Given the description of an element on the screen output the (x, y) to click on. 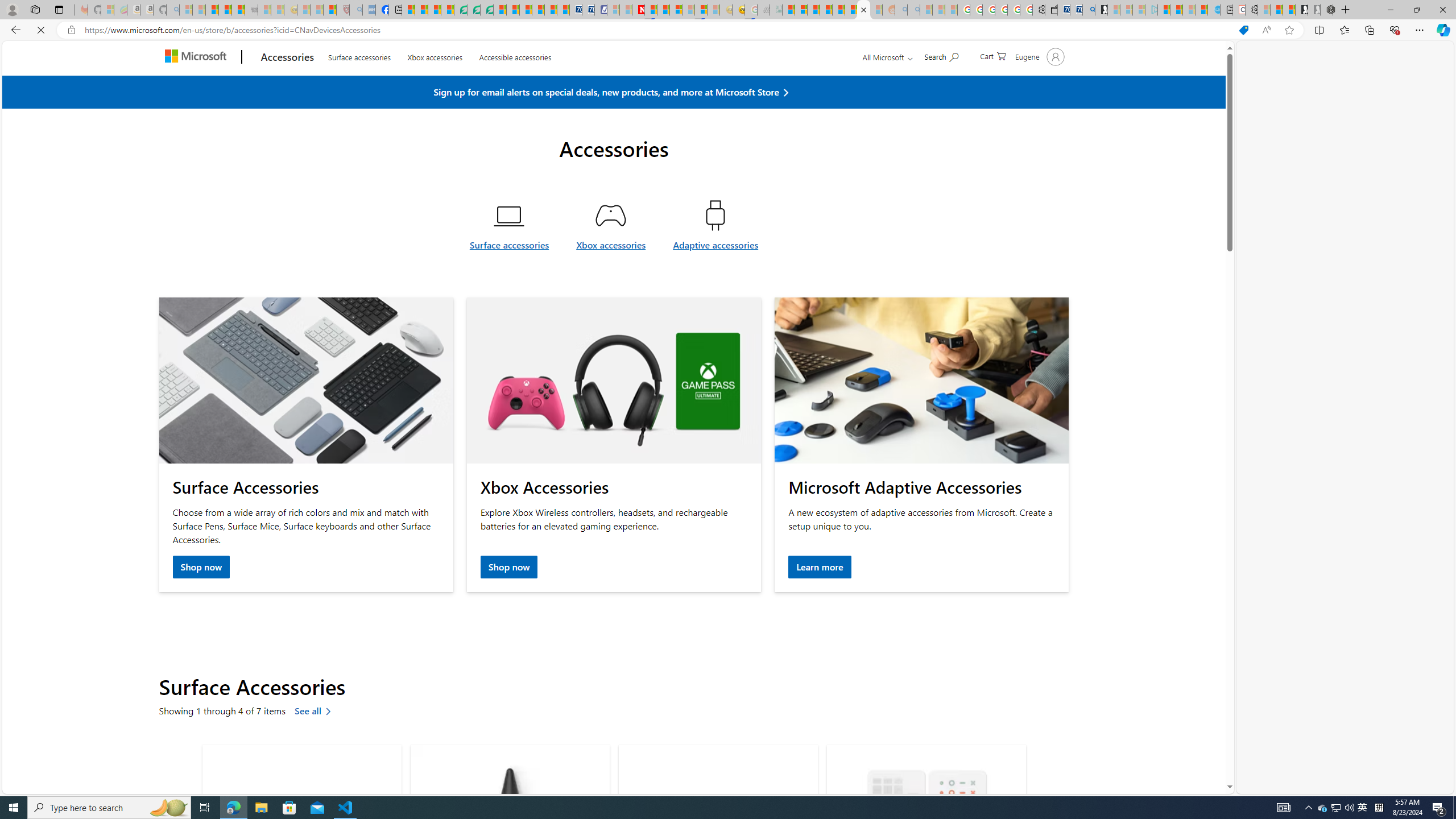
Surface accessories (508, 272)
Shop now Surface accessories (200, 567)
Terms of Use Agreement (473, 9)
PC and Computer Accessories & Tech Gadgets - Microsoft Store (864, 9)
Cheap Hotels - Save70.com (587, 9)
